Given the description of an element on the screen output the (x, y) to click on. 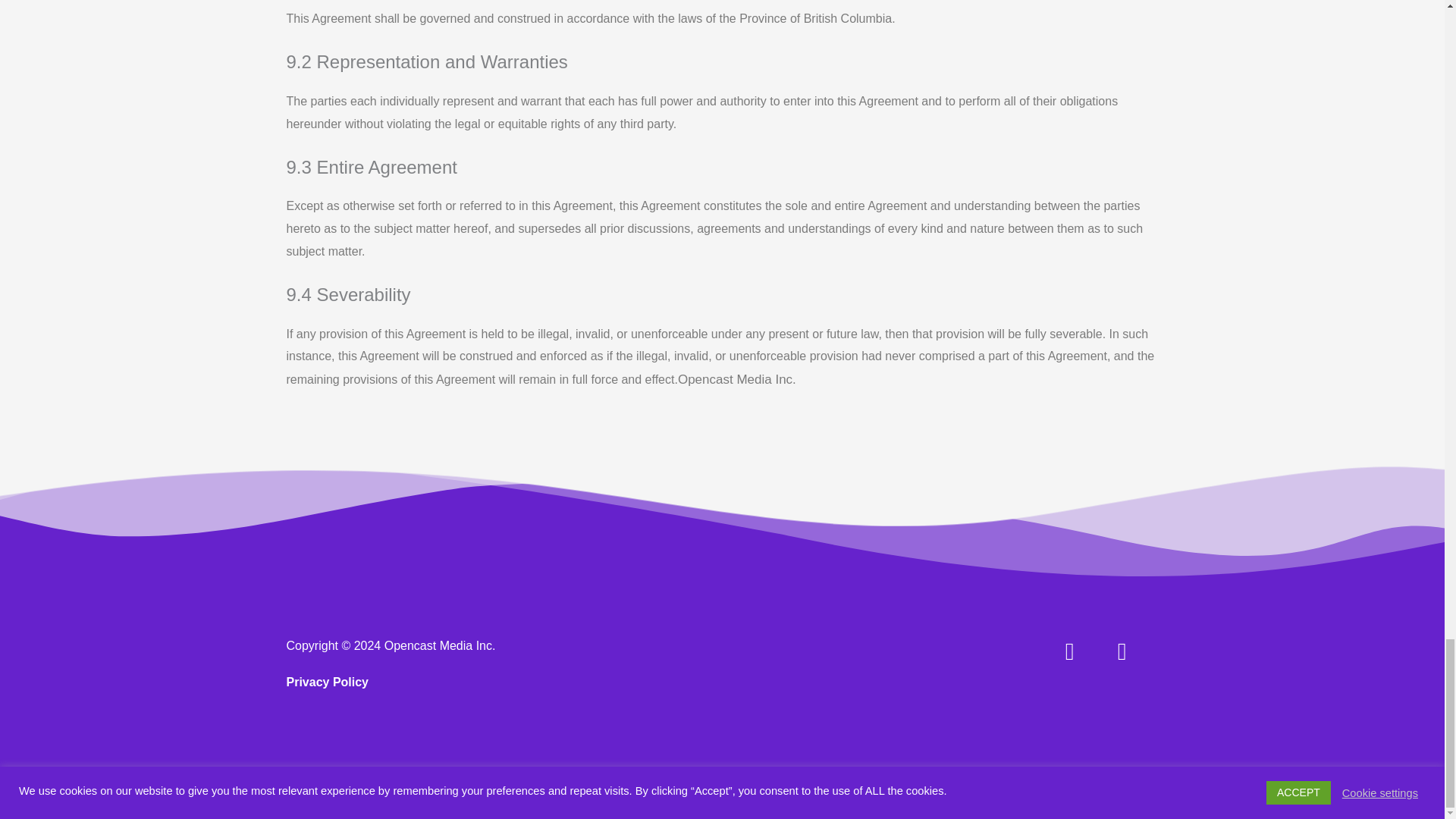
Instagram (1133, 663)
Facebook (1081, 663)
Privacy Policy (327, 682)
